Given the description of an element on the screen output the (x, y) to click on. 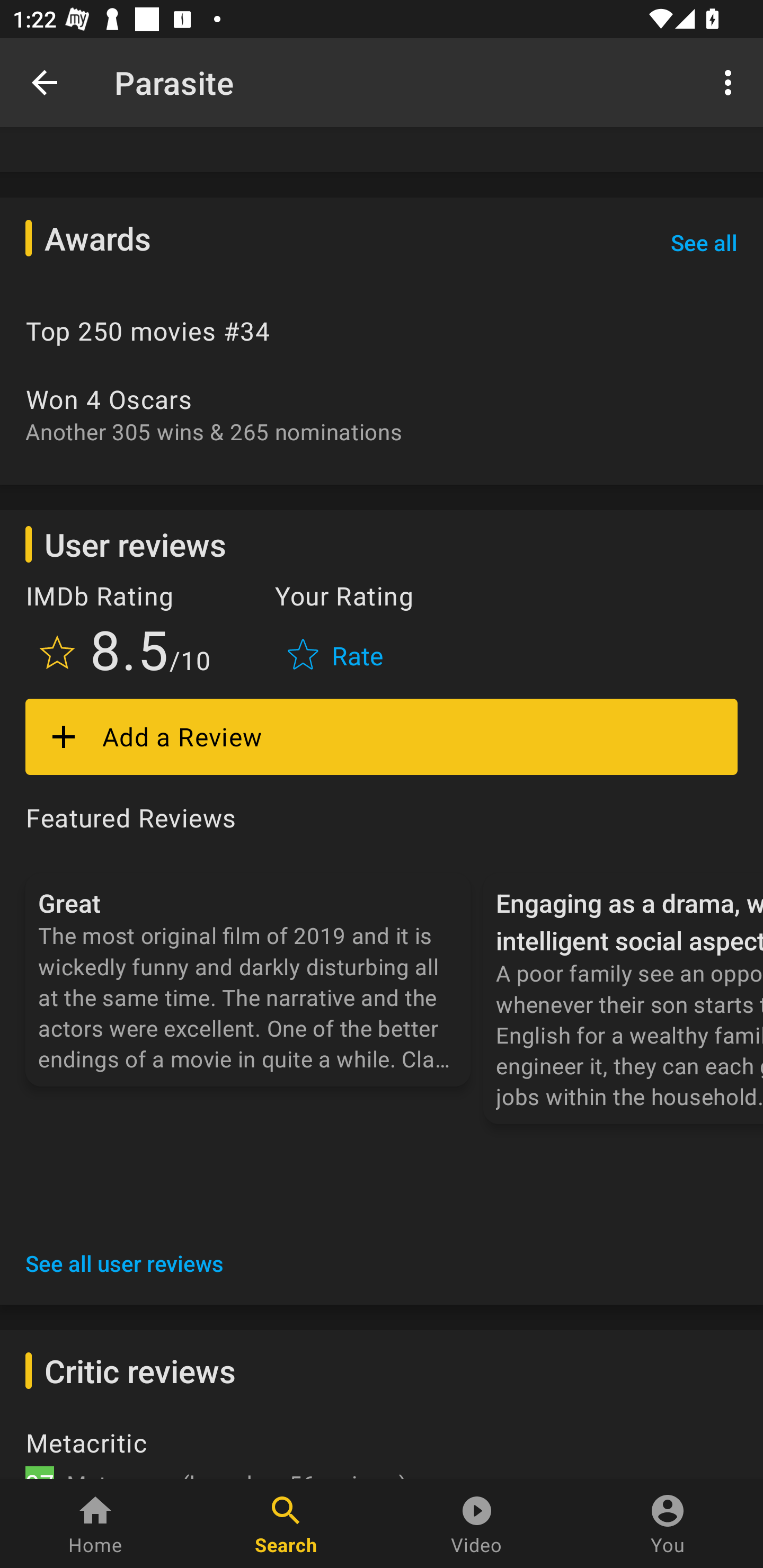
More options (731, 81)
See all See all Awards (703, 241)
Top 250 movies #34 (381, 330)
Won 4 Oscars Another 305 wins & 265 nominations (381, 413)
Your Rating Rate (337, 632)
Add a Review (381, 736)
See all user reviews (124, 1263)
Metacritic 97 Metascore (based on 56 reviews) (381, 1451)
Home (95, 1523)
Video (476, 1523)
You (667, 1523)
